Given the description of an element on the screen output the (x, y) to click on. 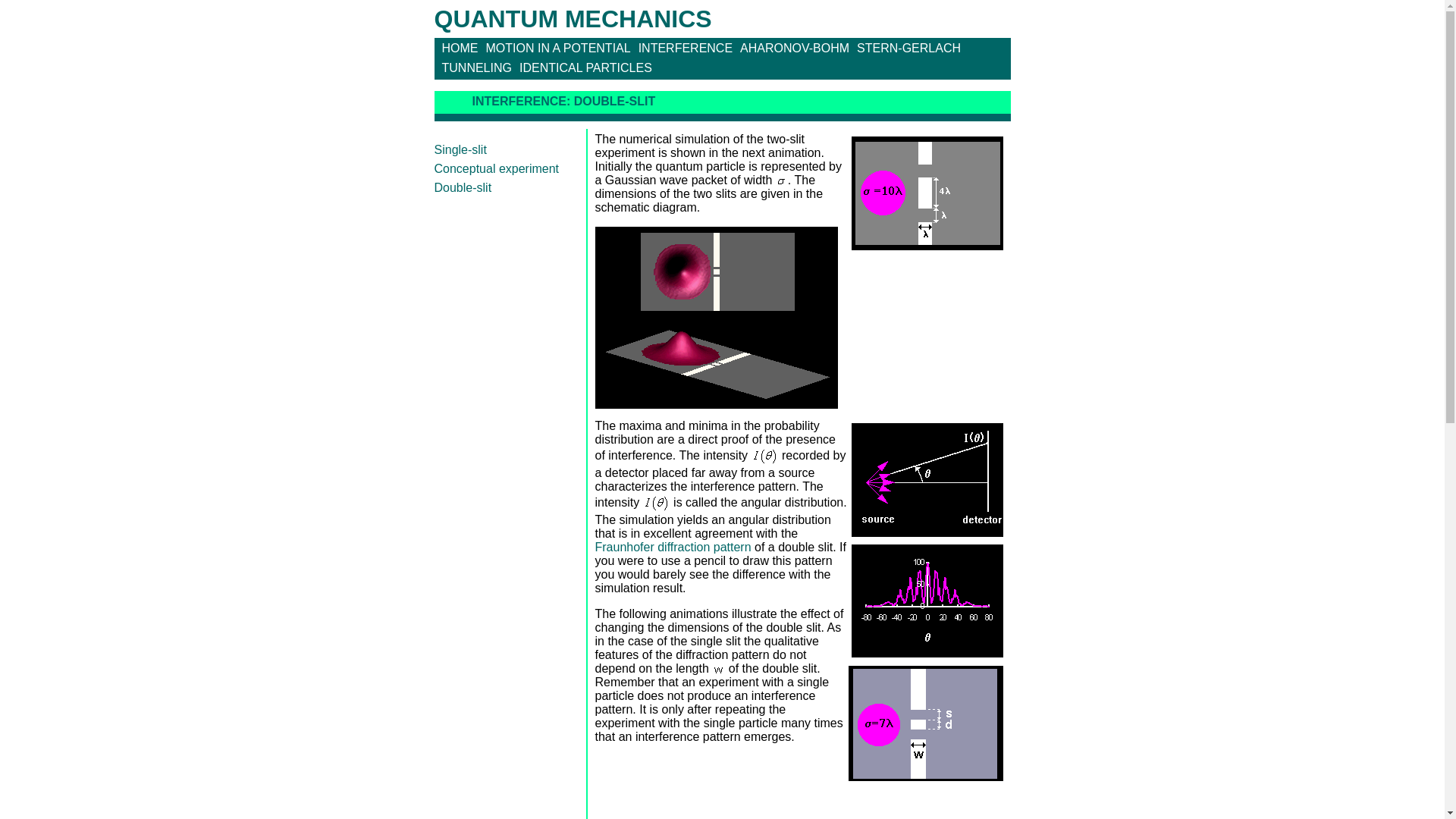
Double-slit (462, 187)
Single-slit (459, 149)
TUNNELING (472, 67)
STERN-GERLACH (904, 47)
MOTION IN A POTENTIAL (553, 47)
IDENTICAL PARTICLES (582, 67)
AHARONOV-BOHM (790, 47)
INTERFERENCE (681, 47)
Conceptual experiment (496, 168)
Fraunhofer diffraction pattern (672, 546)
HOME (455, 47)
